Given the description of an element on the screen output the (x, y) to click on. 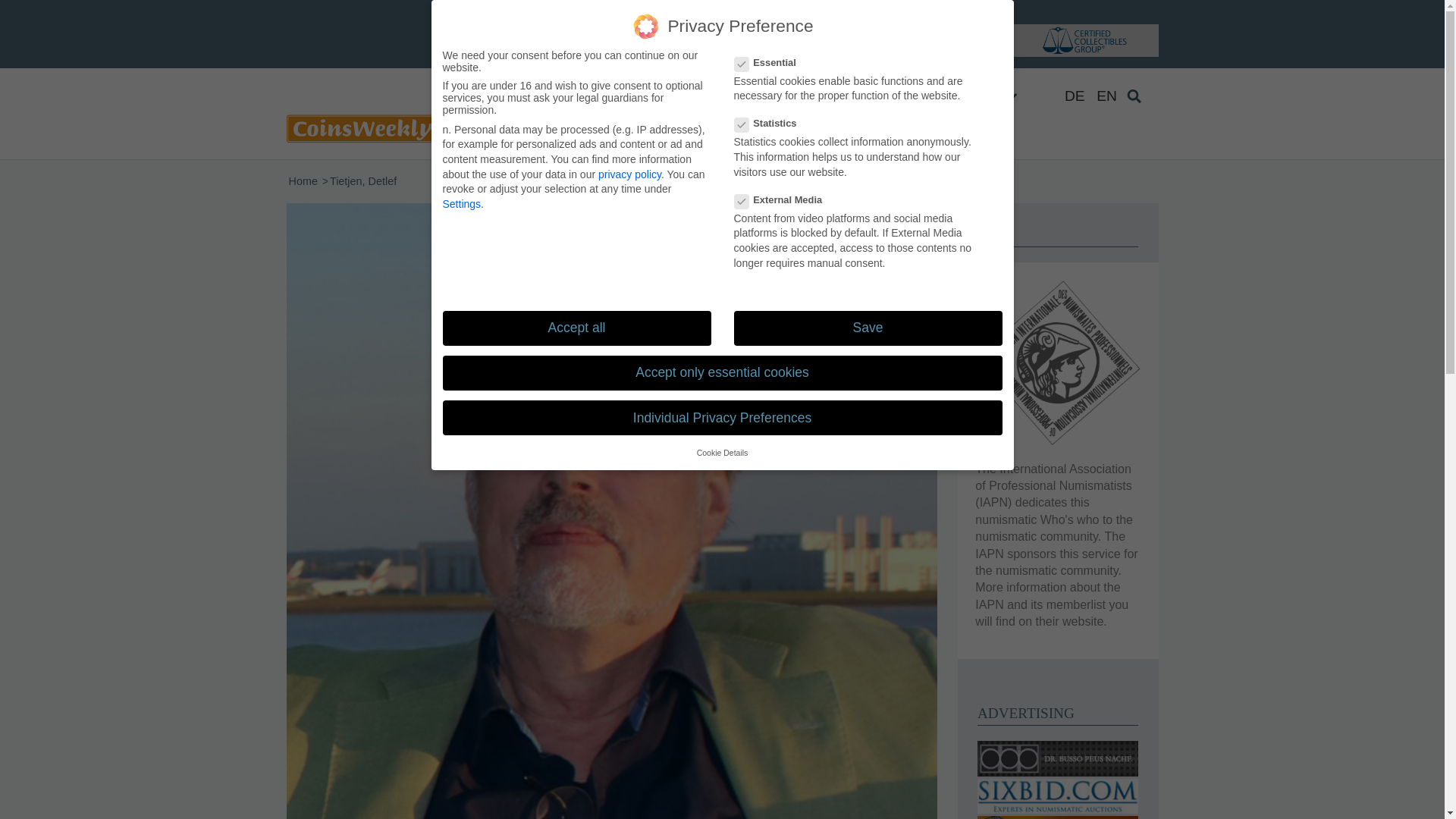
News (837, 95)
Open Cookie Preferences (32, 799)
Home (303, 181)
CoinsWeekly (303, 181)
More (1008, 95)
Auctions (916, 95)
Home (769, 95)
